Given the description of an element on the screen output the (x, y) to click on. 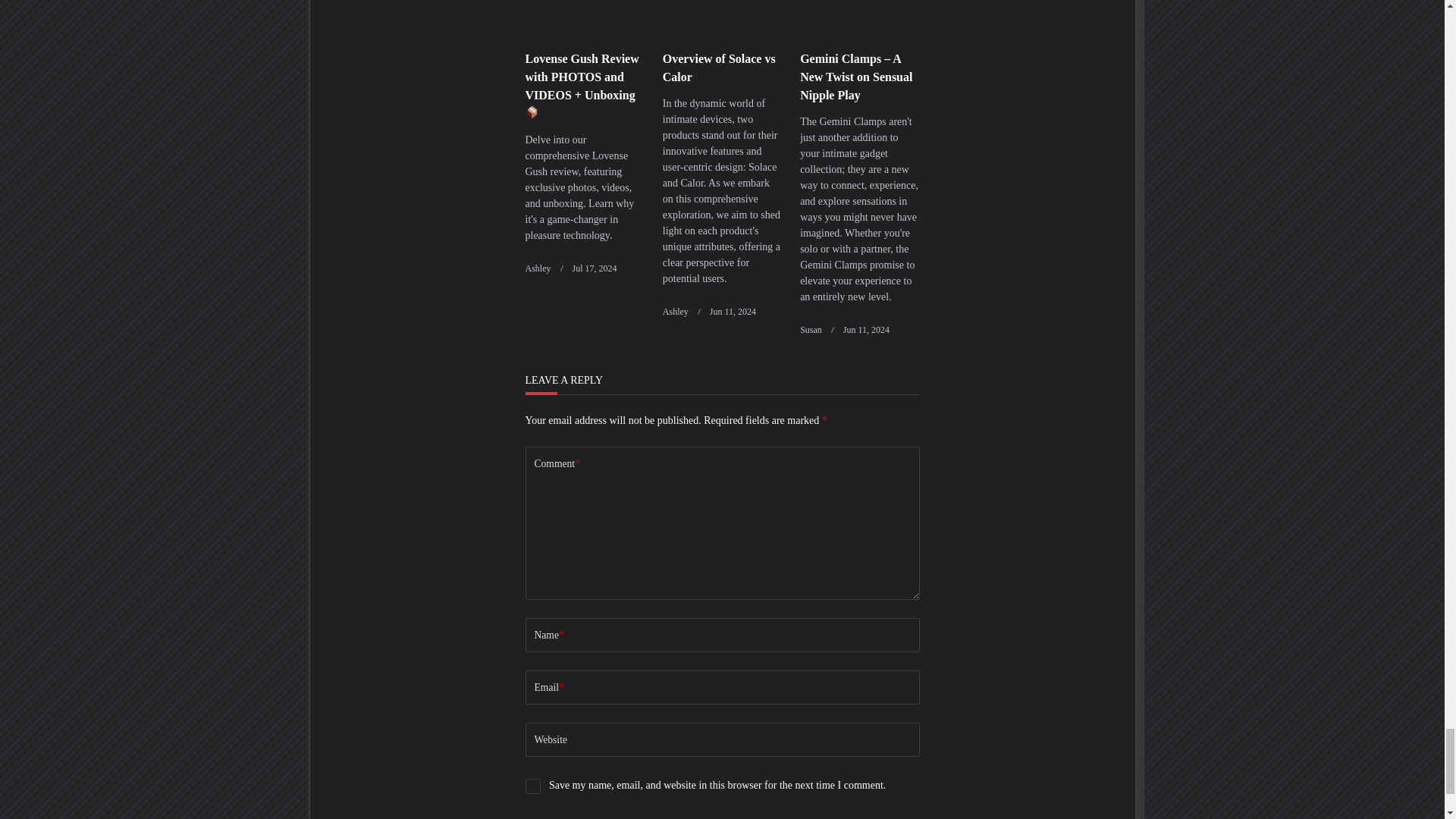
yes (532, 785)
Ashley (537, 267)
Jul 17, 2024 (593, 267)
